Given the description of an element on the screen output the (x, y) to click on. 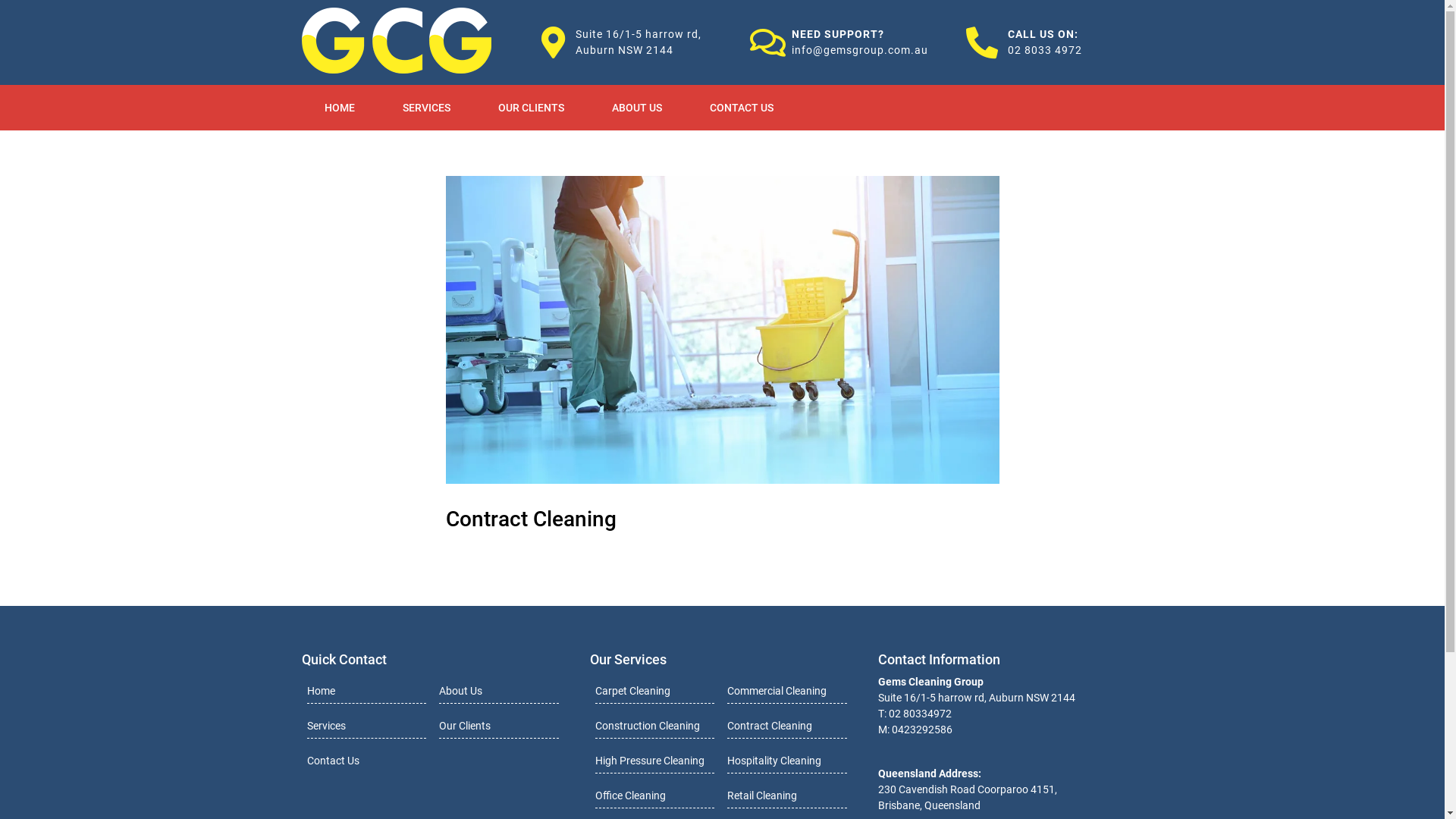
About Us Element type: text (498, 691)
SERVICES Element type: text (425, 107)
High Pressure Cleaning Element type: text (654, 761)
Services Element type: text (366, 726)
Construction Cleaning Element type: text (654, 726)
CONTACT US Element type: text (741, 107)
ABOUT US Element type: text (636, 107)
Carpet Cleaning Element type: text (654, 691)
Our Clients Element type: text (498, 726)
OUR CLIENTS Element type: text (530, 107)
info@gemsgroup.com.au Element type: text (859, 49)
HOME Element type: text (339, 107)
Contract Cleaning Element type: text (787, 726)
Hospitality Cleaning Element type: text (787, 761)
Gems Cleaning Group Element type: hover (396, 39)
Office Cleaning Element type: text (654, 796)
02 8033 4972 Element type: text (1044, 49)
Retail Cleaning Element type: text (787, 796)
Commercial Cleaning Element type: text (787, 691)
Contact Us Element type: text (366, 760)
Home Element type: text (366, 691)
